Given the description of an element on the screen output the (x, y) to click on. 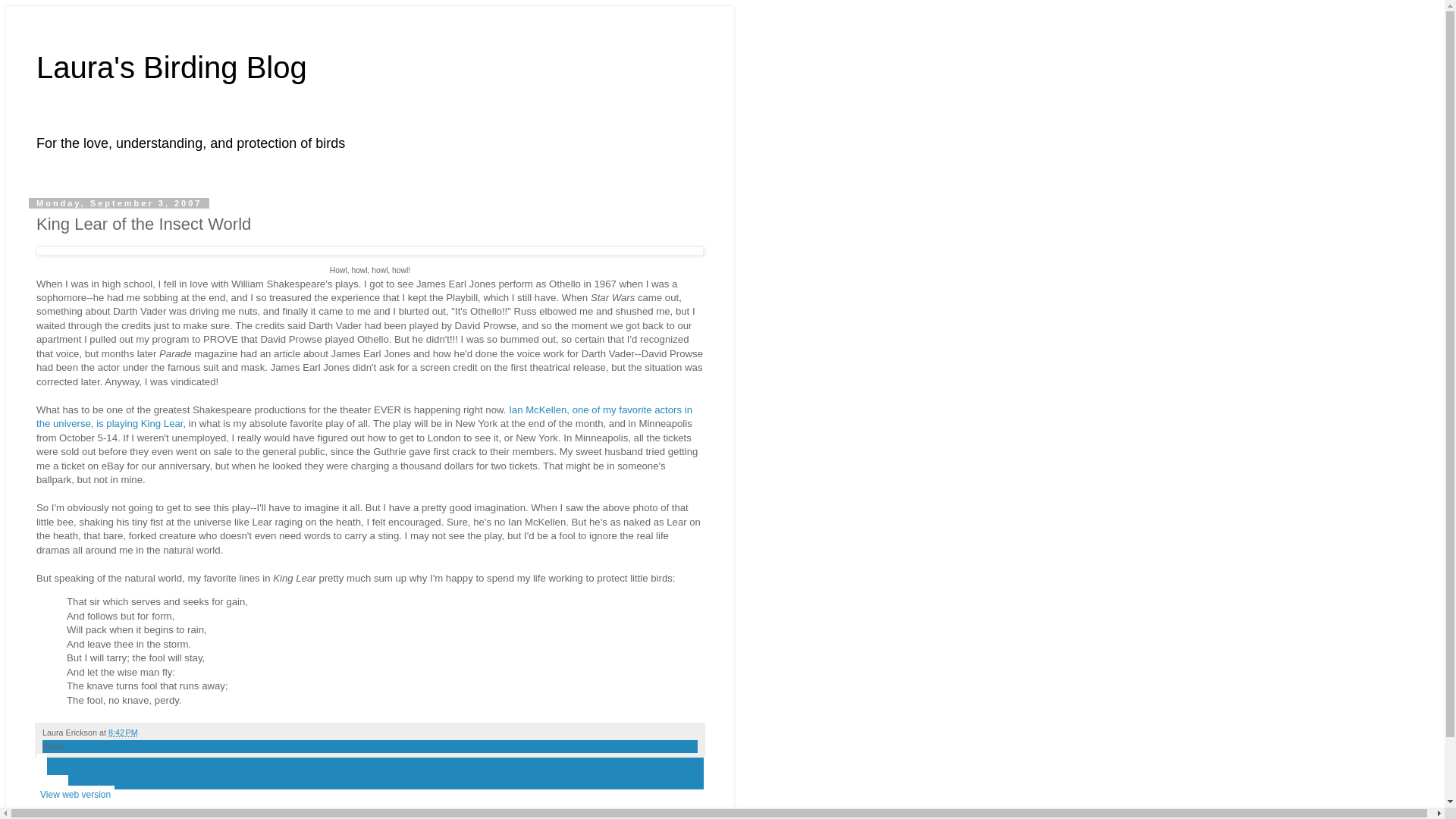
permanent link (122, 732)
Home (52, 783)
Share (53, 746)
Laura's Birding Blog (171, 67)
View web version (75, 794)
